Given the description of an element on the screen output the (x, y) to click on. 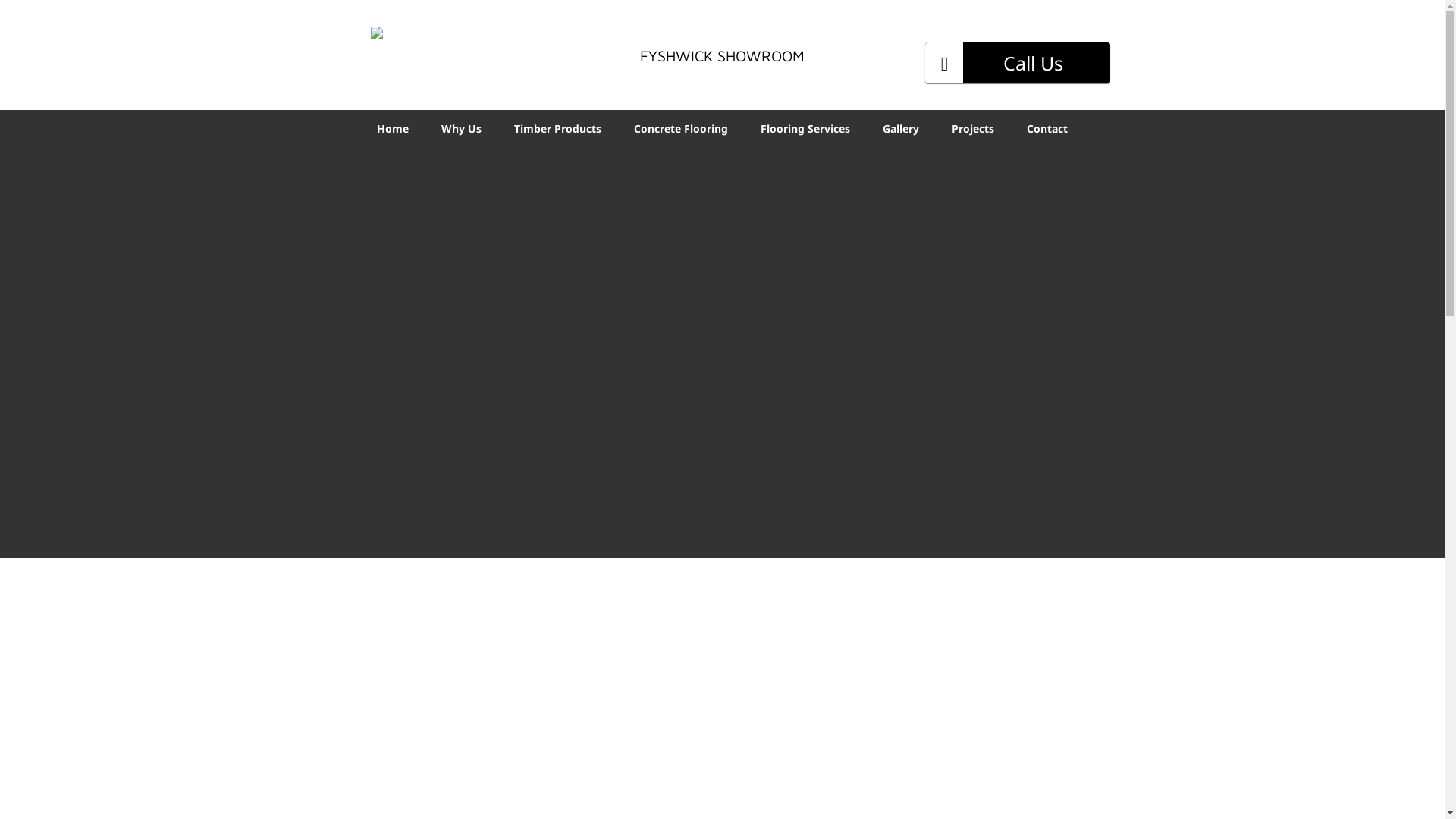
Why Us Element type: text (461, 127)
Contact Element type: text (1046, 127)
Flooring Services Element type: text (805, 127)
Call Us Element type: text (1017, 62)
Concrete Flooring Element type: text (680, 127)
Projects Element type: text (972, 127)
Home Element type: text (392, 127)
Gallery Element type: text (900, 127)
Timber Products Element type: text (557, 127)
Floors by Powell Logo Element type: hover (426, 49)
